Given the description of an element on the screen output the (x, y) to click on. 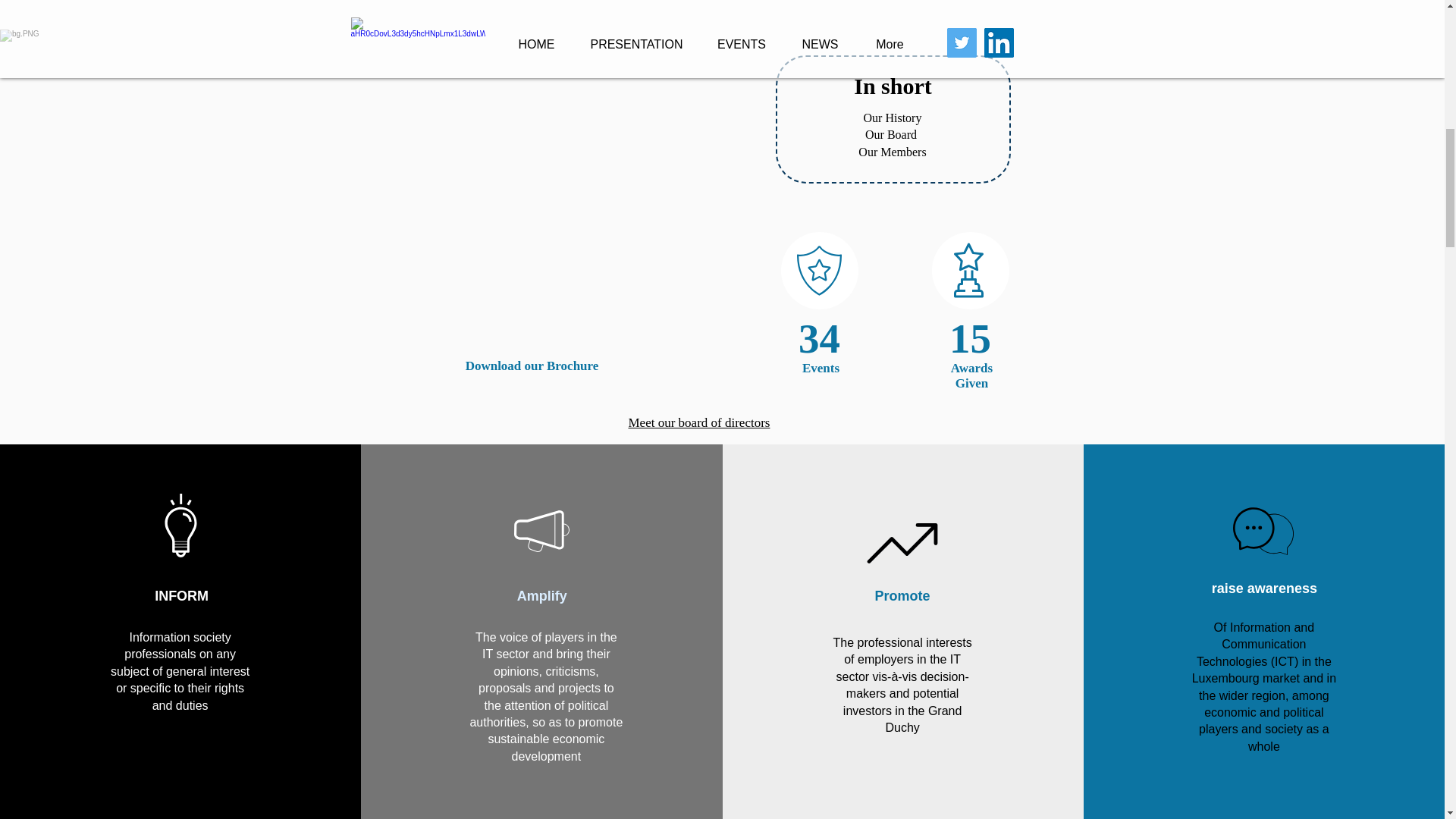
In short (892, 85)
Meet our board of directors (698, 422)
